Given the description of an element on the screen output the (x, y) to click on. 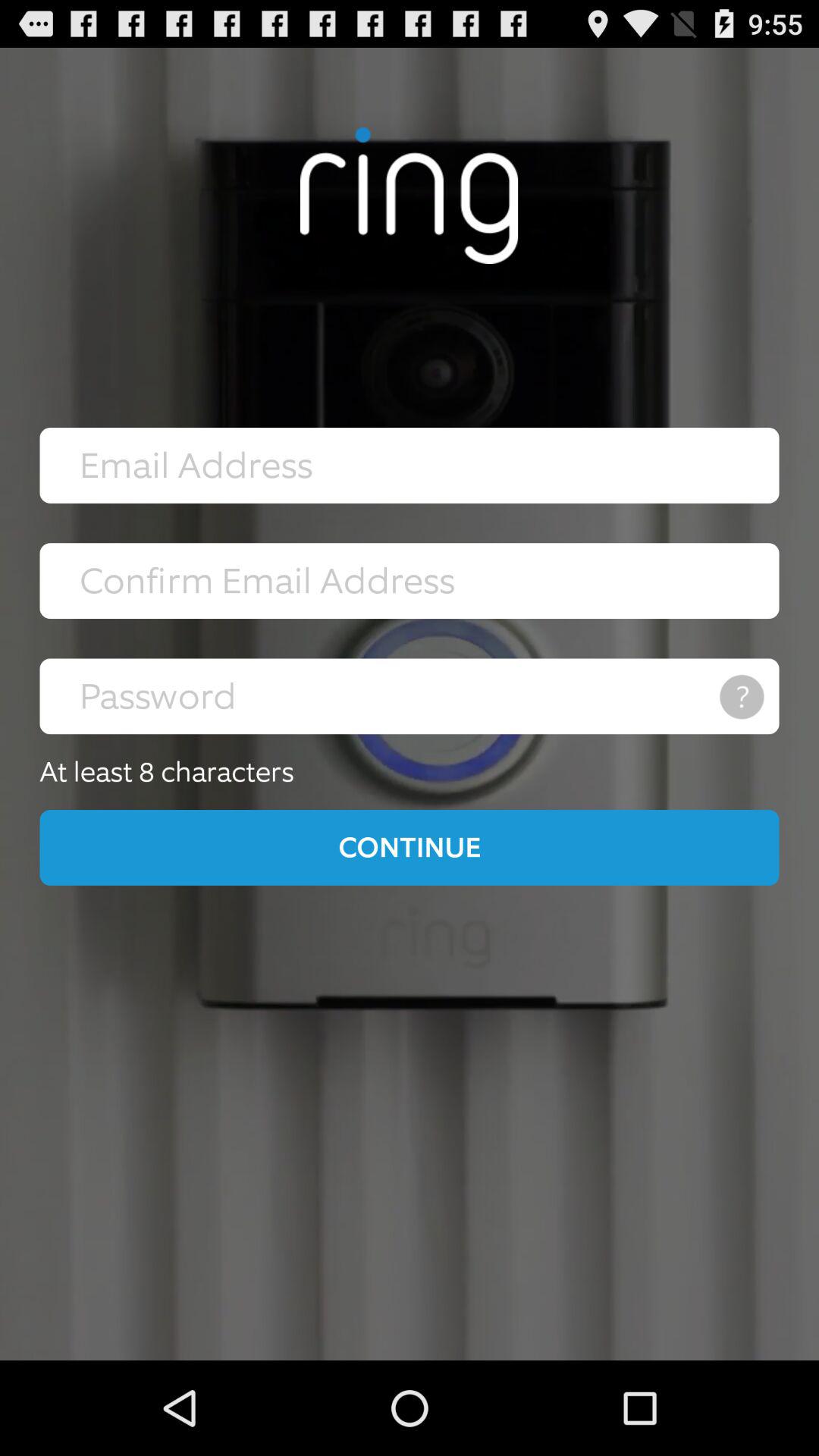
swipe until continue (409, 847)
